Given the description of an element on the screen output the (x, y) to click on. 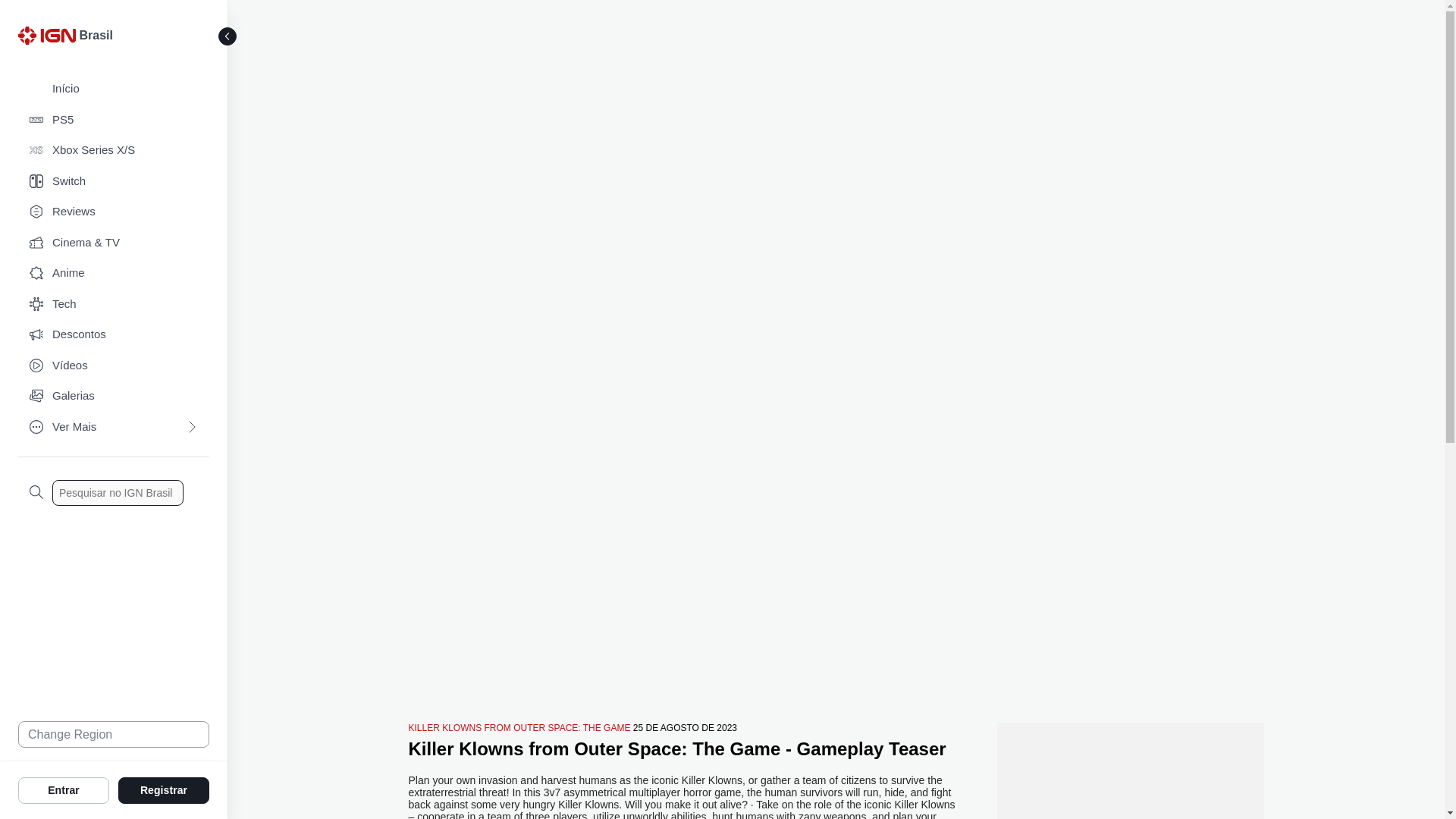
KILLER KLOWNS FROM OUTER SPACE: THE GAME (518, 727)
Anime (113, 273)
Toggle Sidebar (226, 36)
Switch (113, 181)
Registrar (163, 789)
PS5 (113, 119)
Descontos (113, 334)
IGN Logo (46, 34)
IGN Logo (48, 39)
Entrar (63, 789)
Galerias (113, 396)
Tech (113, 304)
Ver Mais (113, 427)
Reviews (113, 211)
